Given the description of an element on the screen output the (x, y) to click on. 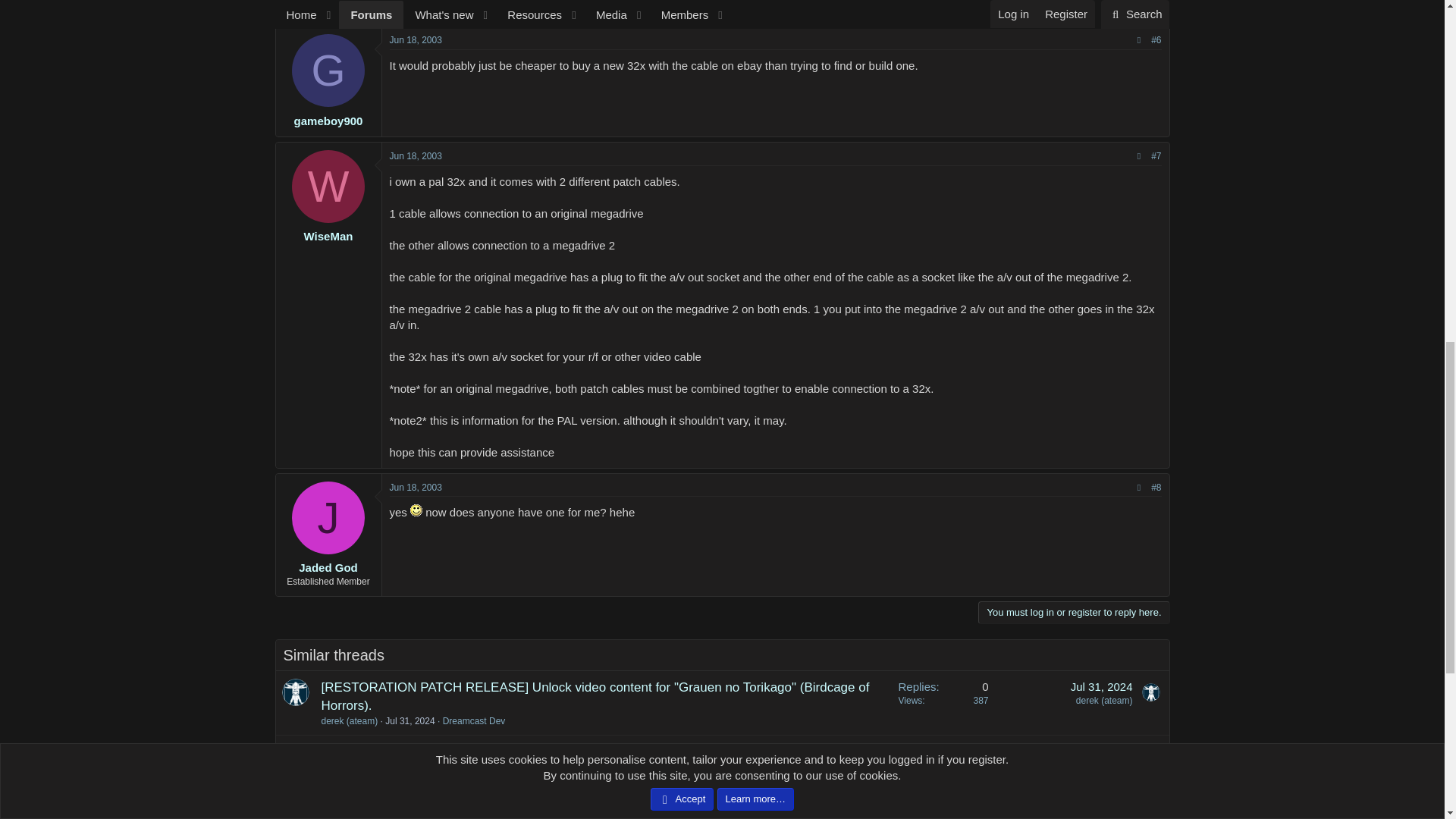
Jun 18, 2003 at 9:50 PM (416, 155)
First message reaction score: 2 (942, 702)
Jul 31, 2024 at 7:39 AM (1101, 686)
Jun 18, 2003 at 8:54 PM (416, 40)
Jun 18, 2003 at 10:30 PM (416, 487)
Jul 31, 2024 at 7:39 AM (409, 720)
